Given the description of an element on the screen output the (x, y) to click on. 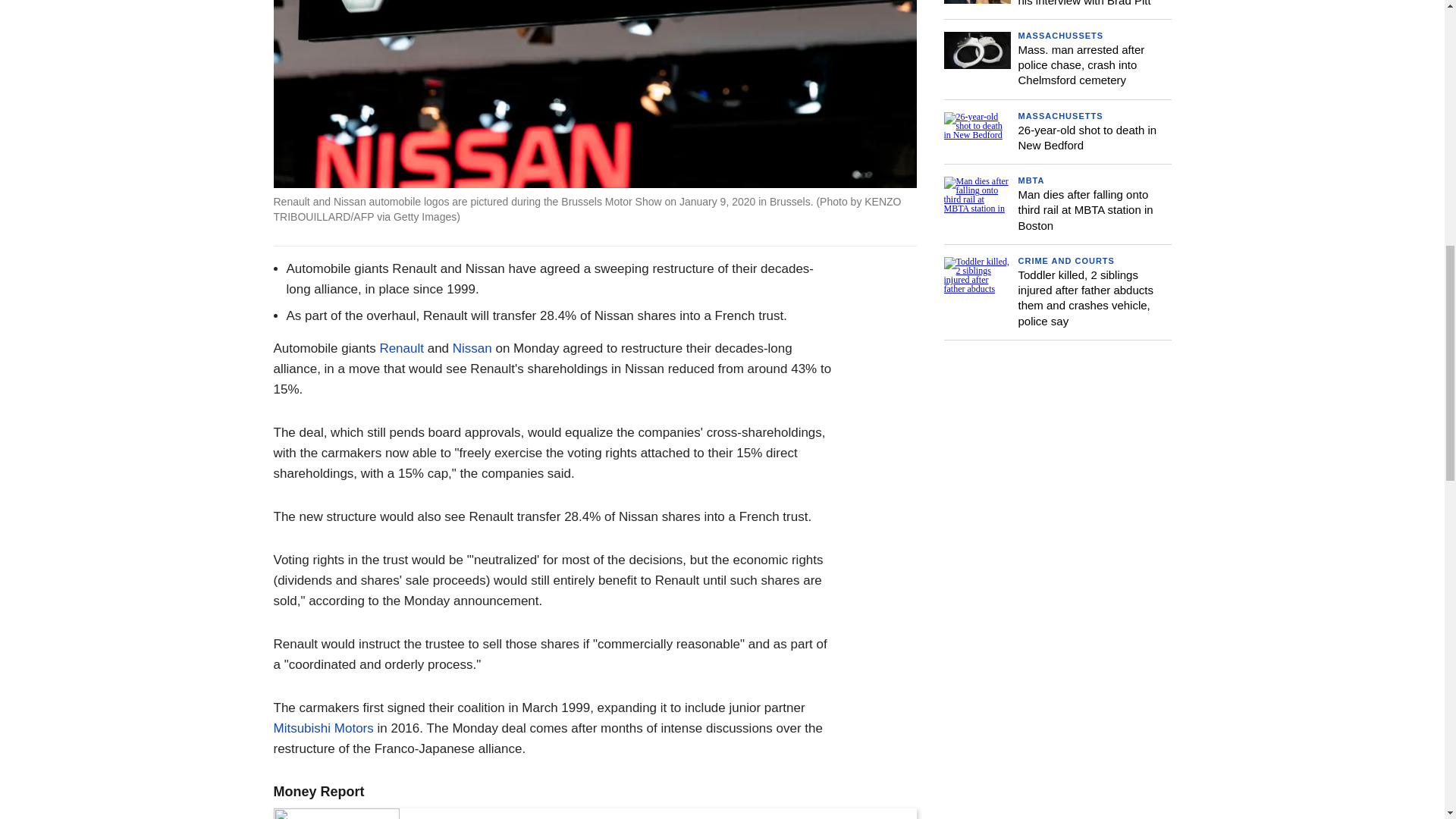
Renault (400, 348)
Mitsubishi Motors (322, 728)
Nissan (472, 348)
